Given the description of an element on the screen output the (x, y) to click on. 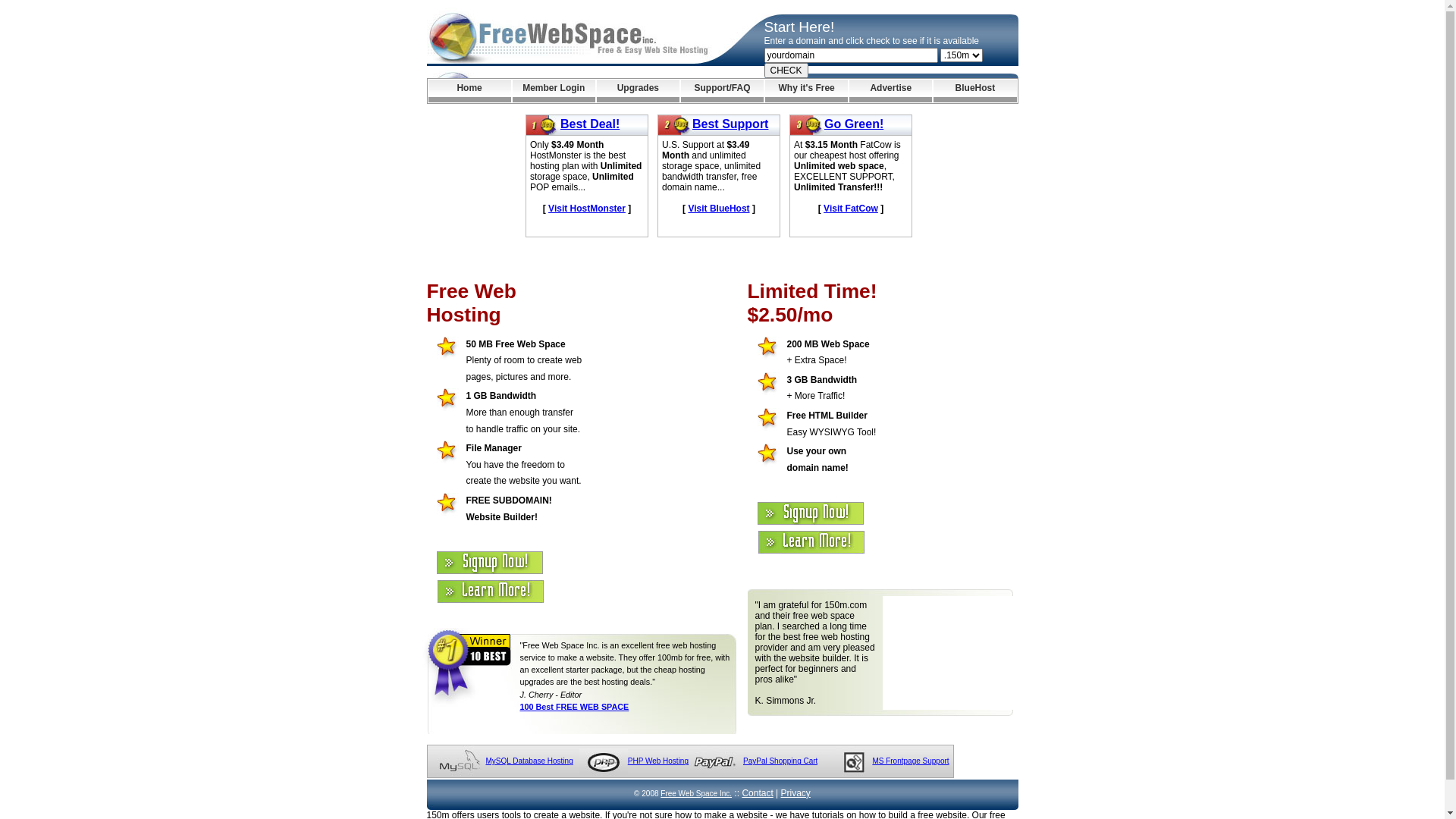
PayPal Shopping Cart Element type: text (780, 760)
PHP Web Hosting Element type: text (657, 760)
Free Web Space Inc. Element type: text (695, 793)
CHECK Element type: text (786, 70)
Why it's Free Element type: text (806, 90)
Support/FAQ Element type: text (721, 90)
100 Best FREE WEB SPACE Element type: text (574, 706)
Privacy Element type: text (795, 792)
Advertise Element type: text (890, 90)
MySQL Database Hosting Element type: text (528, 760)
Home Element type: text (468, 90)
Upgrades Element type: text (637, 90)
MS Frontpage Support Element type: text (910, 760)
Member Login Element type: text (553, 90)
Contact Element type: text (756, 792)
BlueHost Element type: text (974, 90)
